Given the description of an element on the screen output the (x, y) to click on. 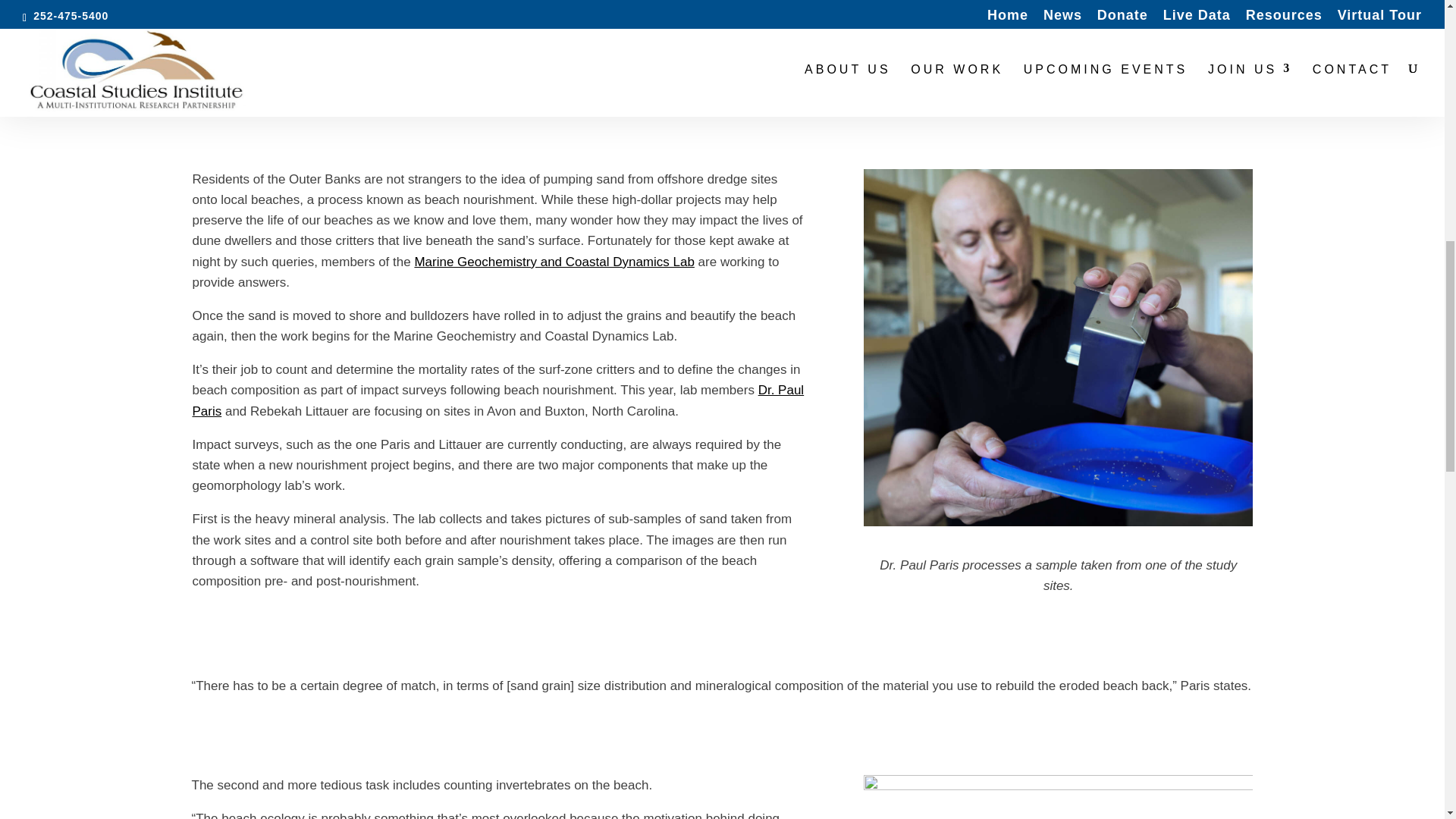
Marine Geochemistry and Coastal Dynamics Lab (553, 261)
Dr. Paul Paris (498, 400)
-- (1058, 796)
